Given the description of an element on the screen output the (x, y) to click on. 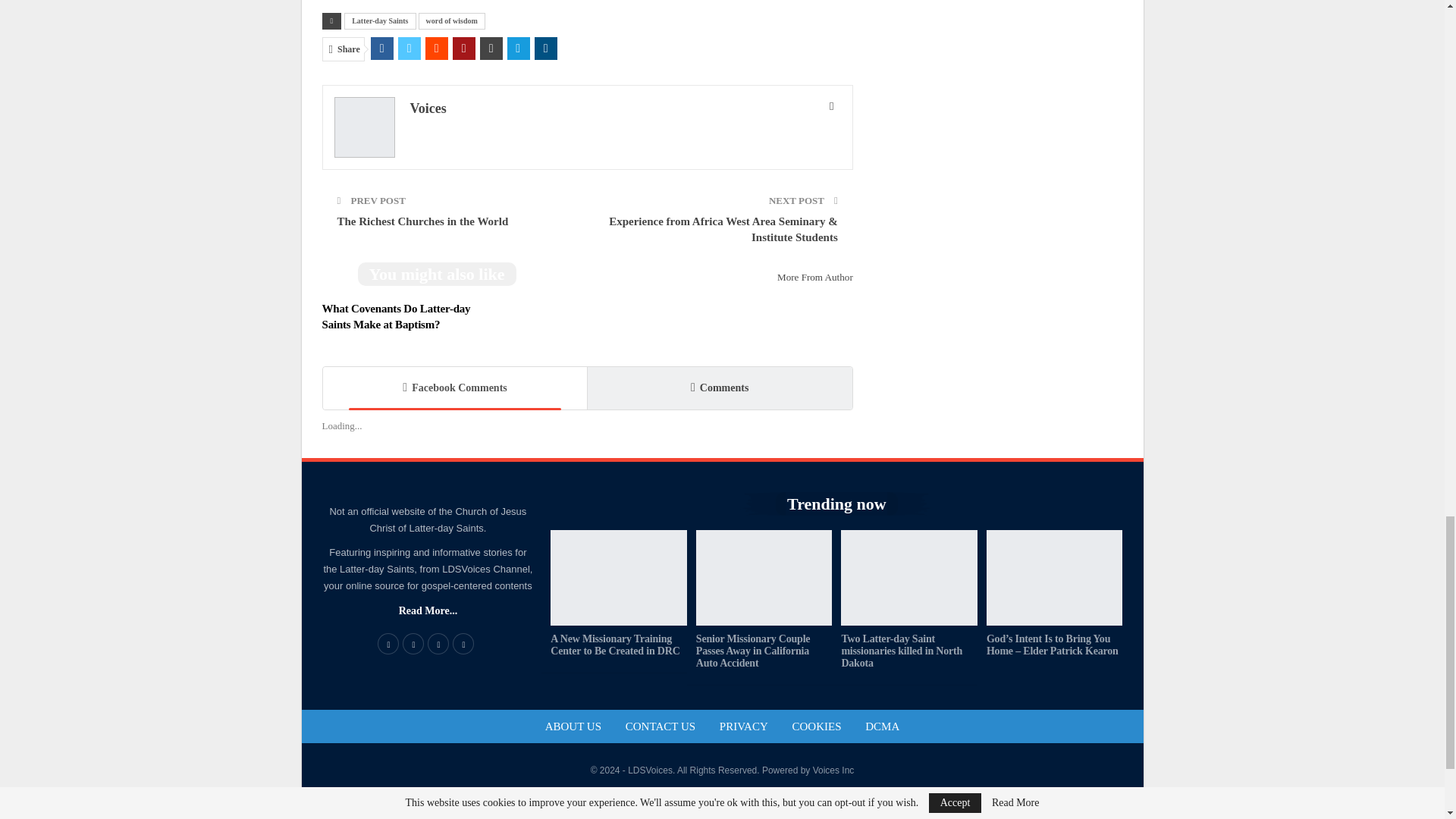
Latter-day Saints (378, 21)
word of wisdom (451, 21)
What Covenants Do Latter-day Saints Make at Baptism? (395, 316)
A New Missionary Training Center to Be Created in DRC (618, 577)
